Given the description of an element on the screen output the (x, y) to click on. 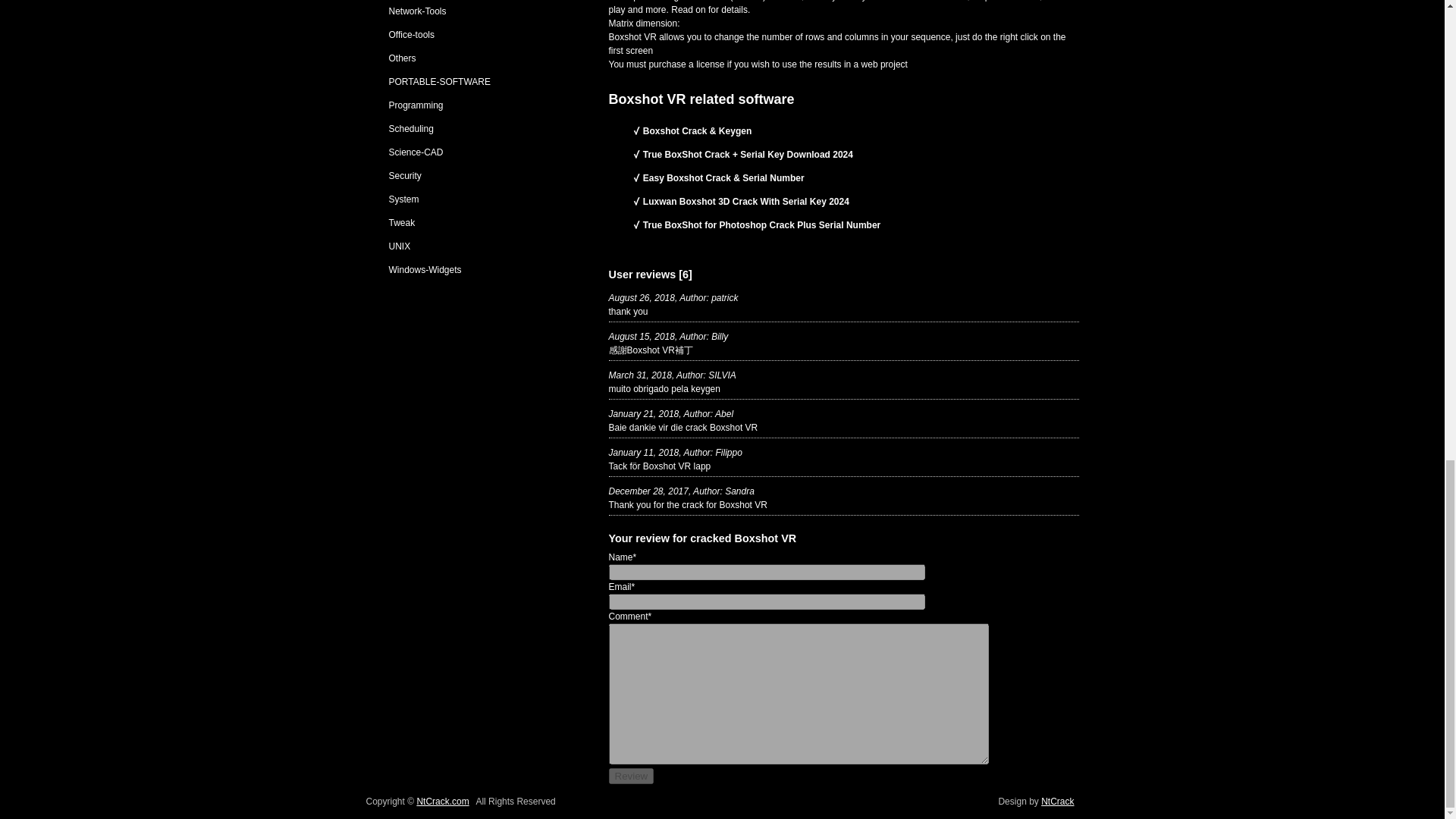
Review (630, 775)
Security (404, 175)
System (403, 199)
Programming (415, 104)
Science-CAD (415, 152)
Network-Tools (416, 10)
PORTABLE-SOFTWARE (438, 81)
Tweak (401, 222)
Office-tools (410, 34)
Luxwan Boxshot 3D Crack With Serial Key 2024 (745, 201)
Others (401, 58)
UNIX (399, 245)
Windows-Widgets (424, 269)
Scheduling (410, 128)
